Given the description of an element on the screen output the (x, y) to click on. 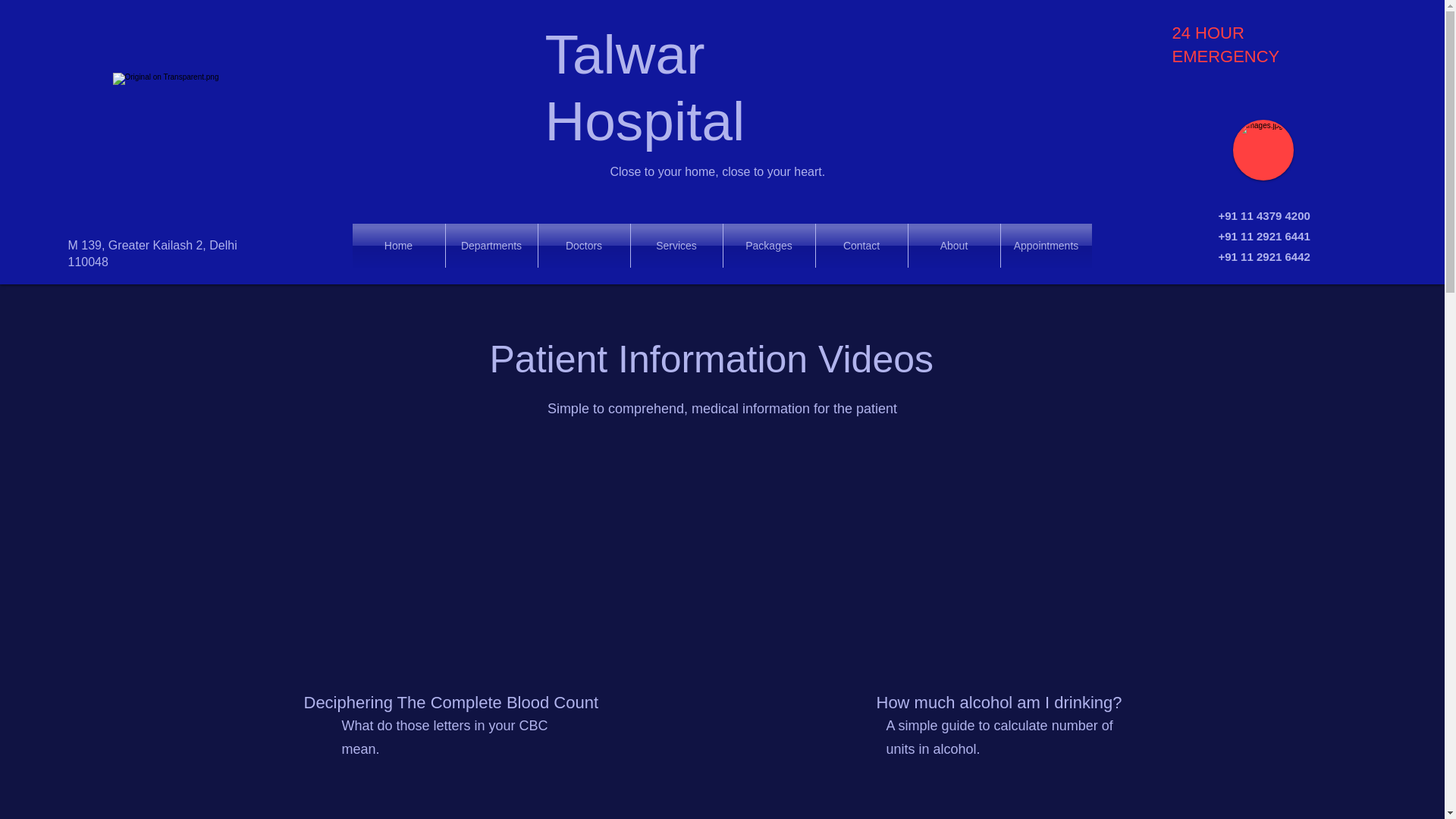
Contact (861, 245)
Doctors (584, 245)
About (954, 245)
Home (398, 245)
Packages (769, 245)
Appointments (1046, 245)
Departments (491, 245)
Services (676, 245)
